Given the description of an element on the screen output the (x, y) to click on. 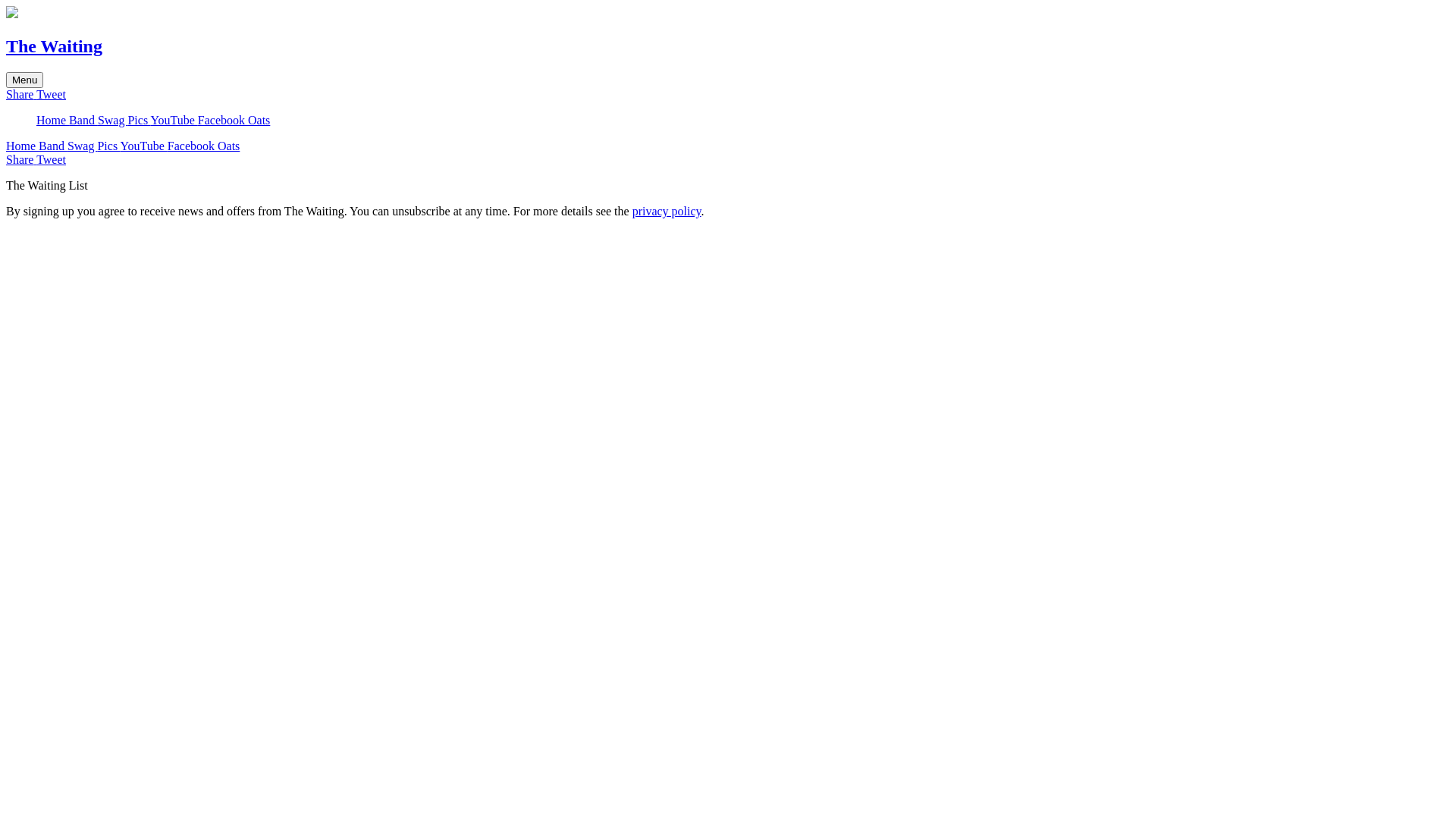
Tweet Element type: text (50, 93)
Home Element type: text (22, 145)
Pics Element type: text (138, 119)
Tweet Element type: text (50, 159)
Oats Element type: text (228, 145)
Home Element type: text (52, 119)
The Waiting Element type: text (54, 46)
Band Element type: text (52, 145)
privacy policy Element type: text (666, 210)
Share Element type: text (21, 93)
Oats Element type: text (258, 119)
Menu Element type: text (24, 79)
The Waiting Element type: hover (12, 13)
Pics Element type: text (108, 145)
Swag Element type: text (82, 145)
Facebook Element type: text (192, 145)
Share Element type: text (21, 159)
Band Element type: text (83, 119)
Facebook Element type: text (222, 119)
YouTube Element type: text (143, 145)
Swag Element type: text (112, 119)
YouTube Element type: text (173, 119)
